Given the description of an element on the screen output the (x, y) to click on. 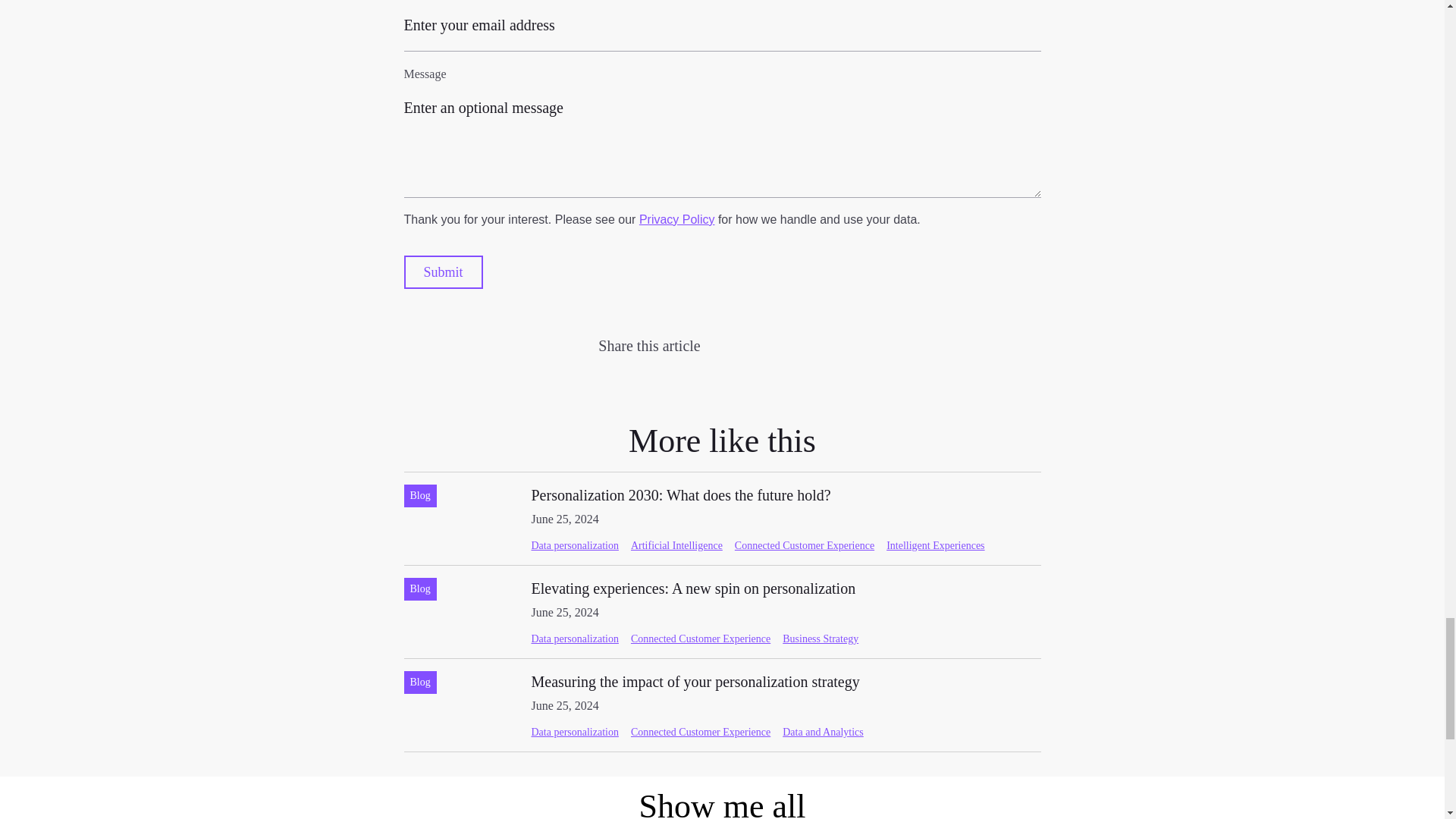
Measuring the impact of your personalization strategy (695, 681)
Intelligent Experiences (935, 545)
Artificial Intelligence (693, 588)
Linkedin (680, 494)
Privacy Policy (676, 545)
Submit (782, 354)
Connected Customer Experience (676, 219)
Data personalization (442, 272)
